Given the description of an element on the screen output the (x, y) to click on. 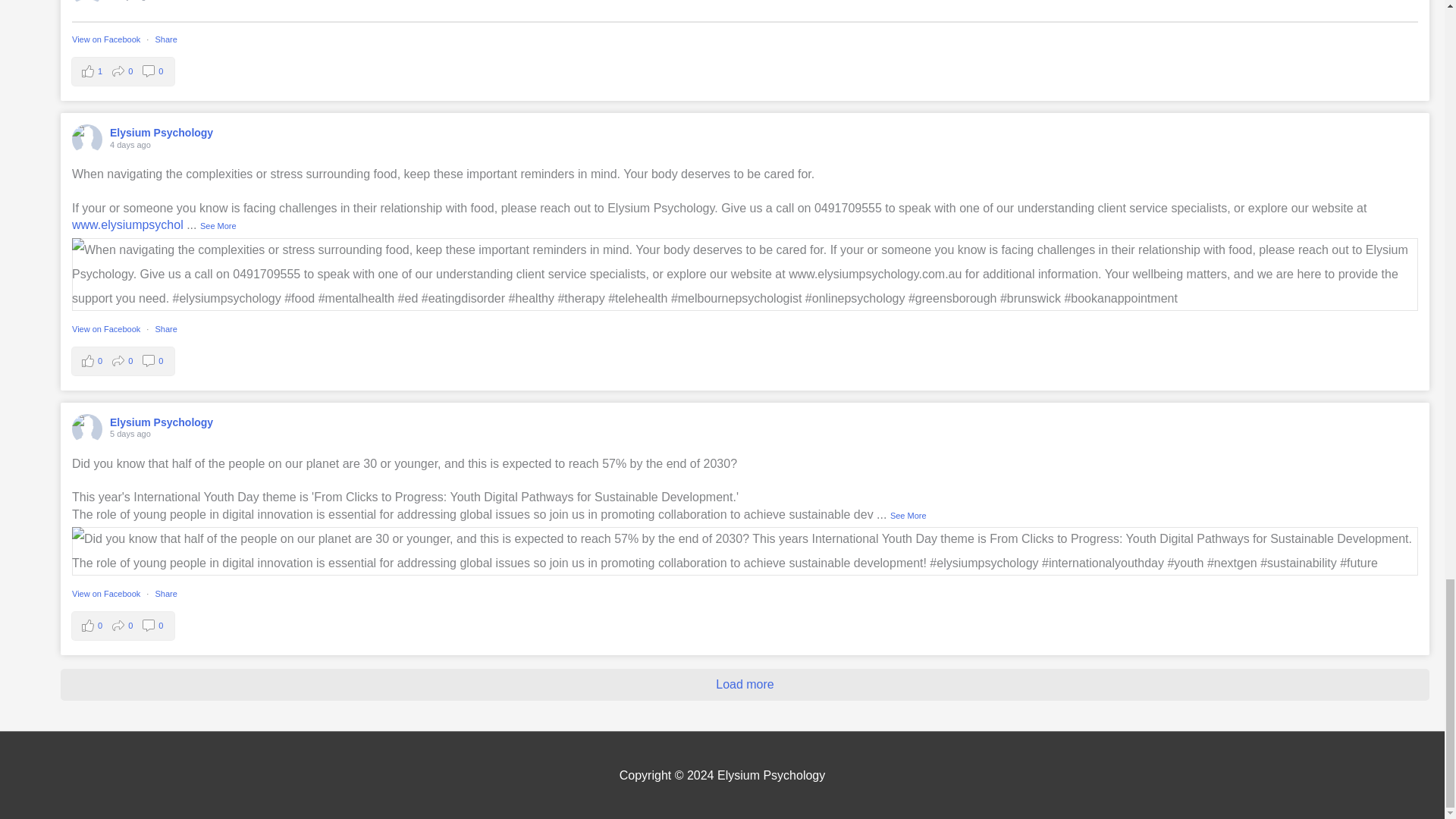
View on Facebook (106, 328)
Share (165, 39)
View on Facebook (106, 39)
